Given the description of an element on the screen output the (x, y) to click on. 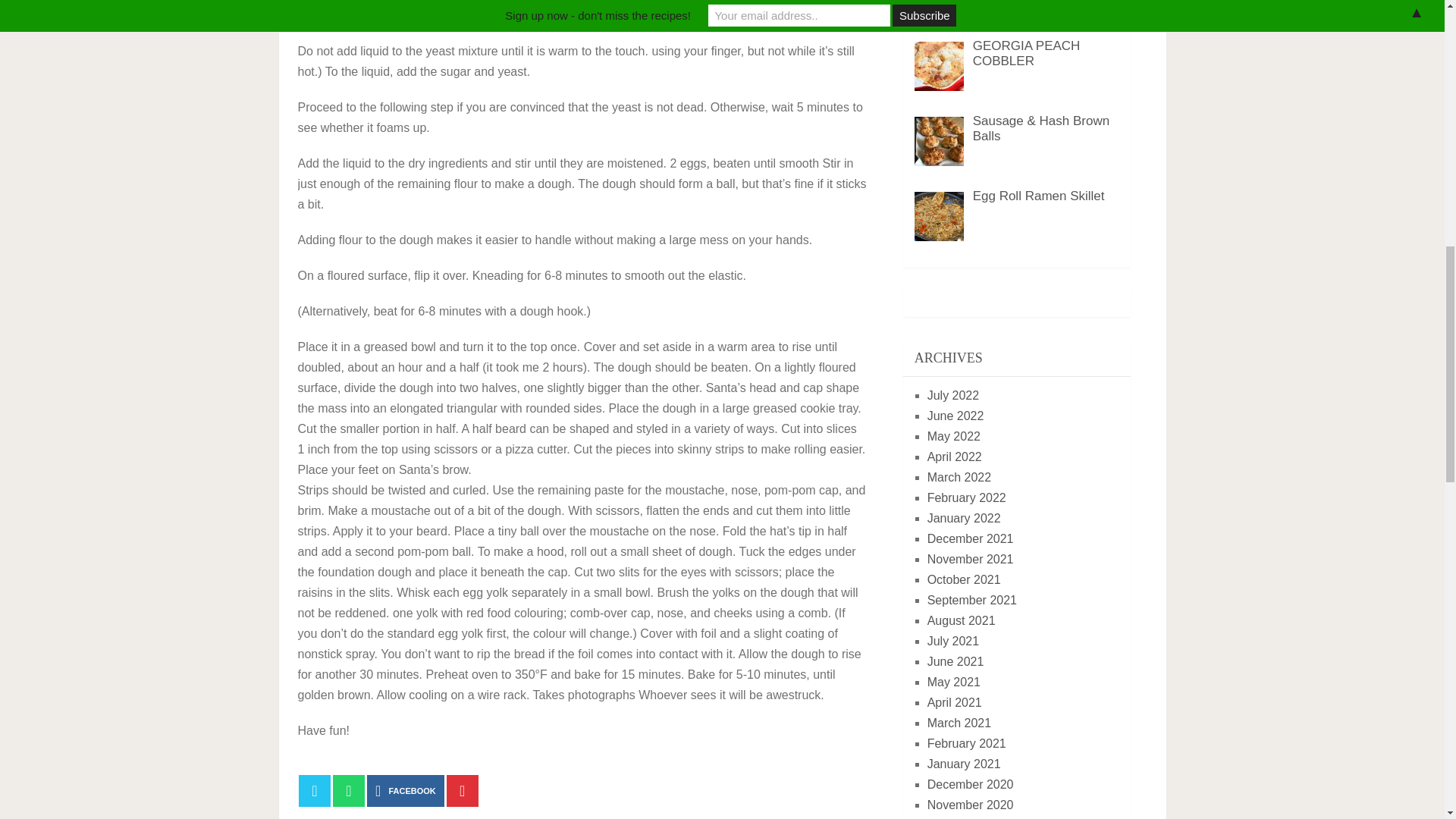
November 2021 (970, 558)
FACEBOOK (405, 790)
March 2022 (959, 477)
August 2021 (961, 620)
July 2021 (953, 640)
June 2021 (955, 661)
GEORGIA PEACH COBBLER (1026, 52)
October 2021 (964, 579)
April 2022 (954, 456)
Egg Roll Ramen Skillet (1038, 196)
